Given the description of an element on the screen output the (x, y) to click on. 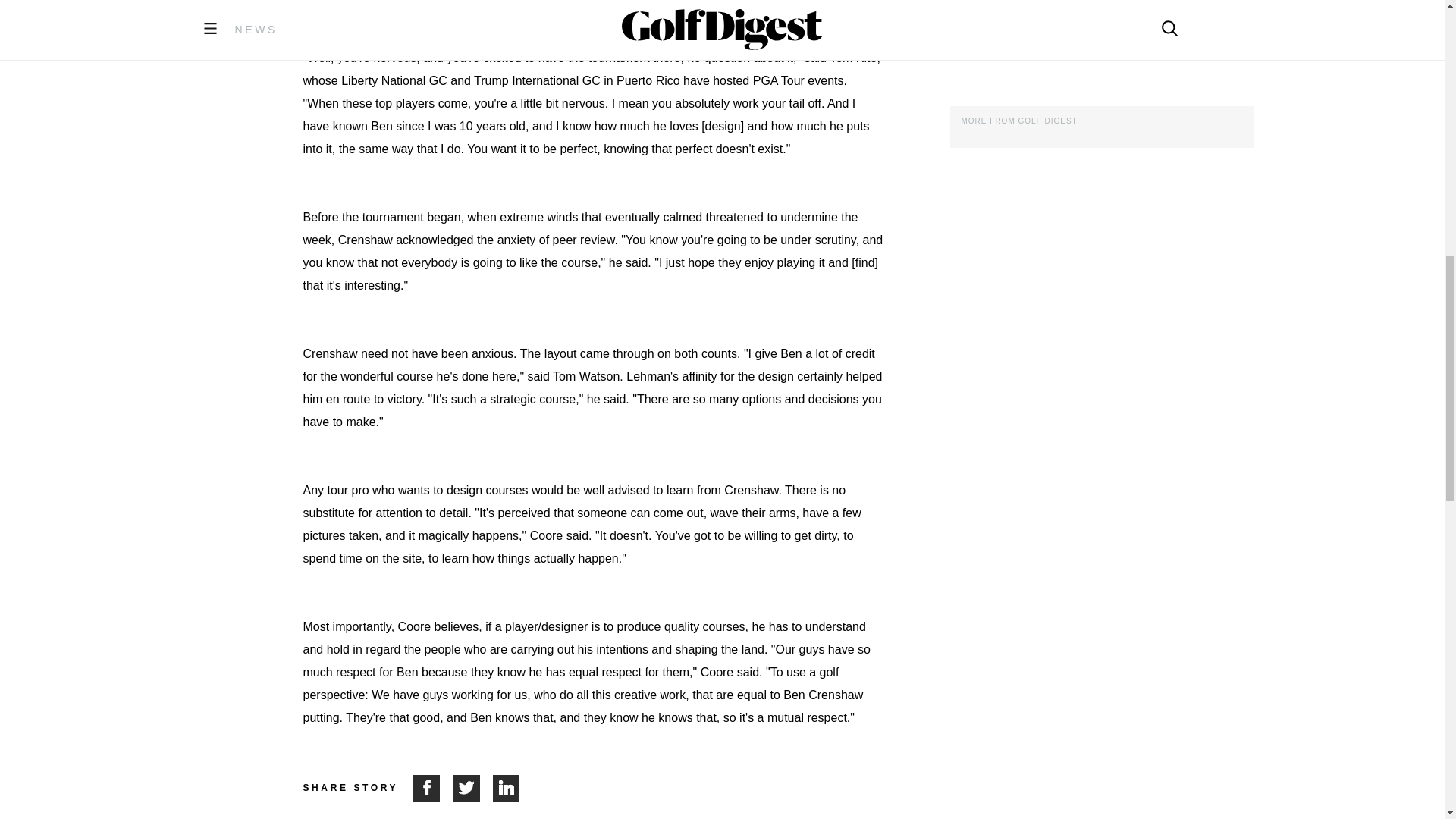
Share on Twitter (472, 787)
Share on LinkedIn (506, 787)
Share on Facebook (432, 787)
